Given the description of an element on the screen output the (x, y) to click on. 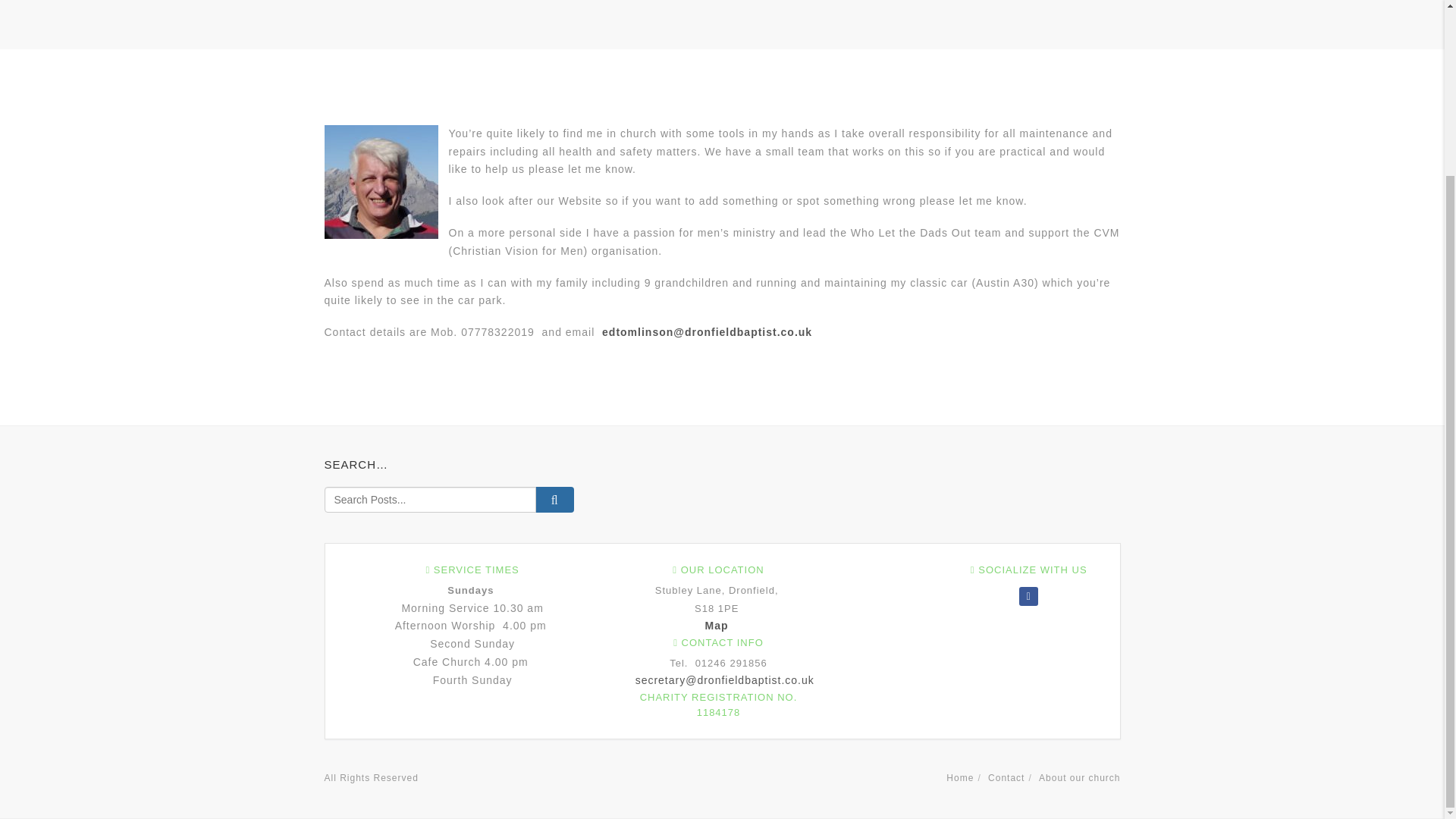
About our church (1079, 777)
Map (716, 625)
Contact (1006, 777)
Home (960, 777)
